Given the description of an element on the screen output the (x, y) to click on. 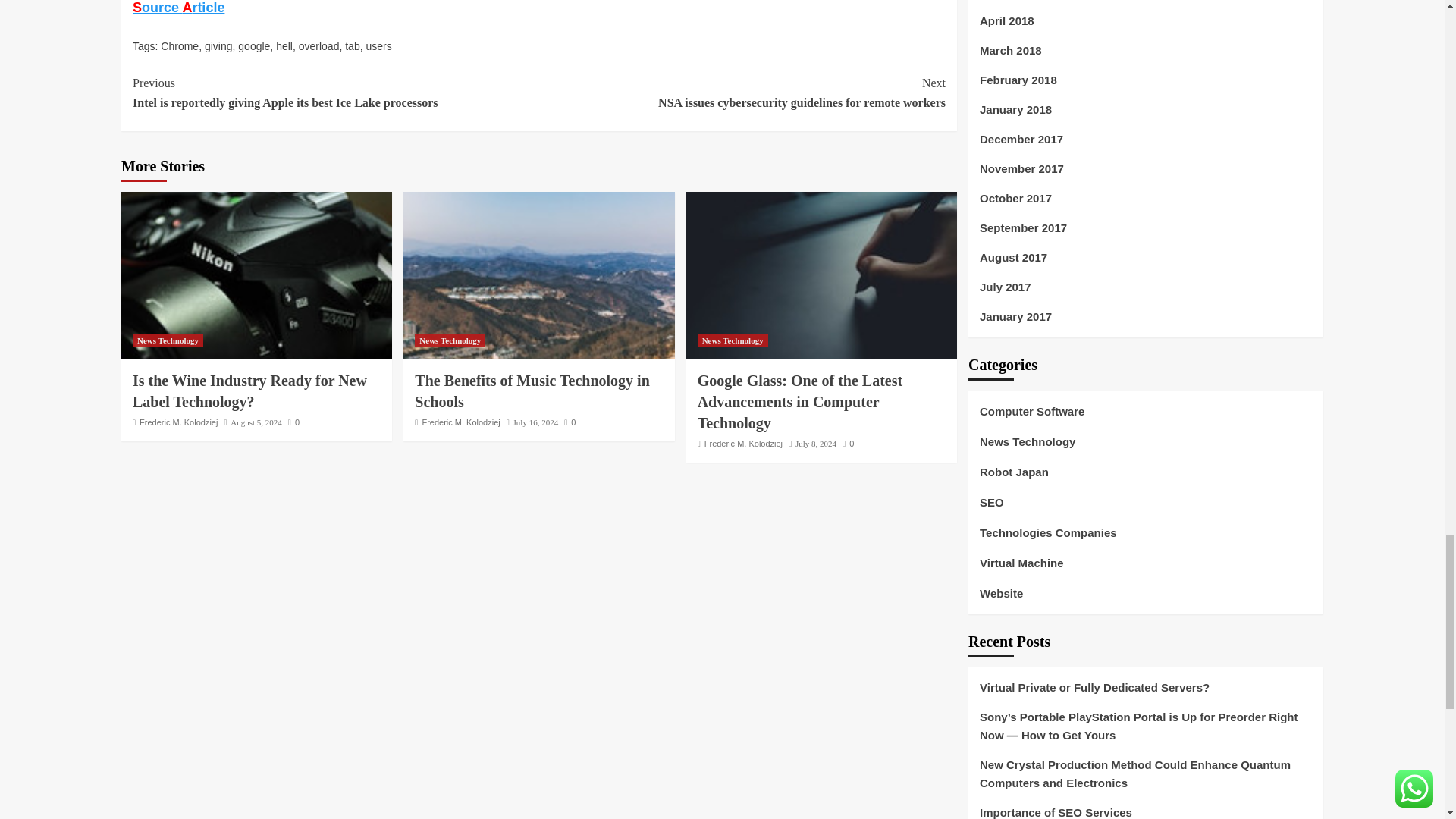
The Benefits of Music Technology in Schools (538, 274)
Is the Wine Industry Ready for New Label Technology? (255, 274)
